Given the description of an element on the screen output the (x, y) to click on. 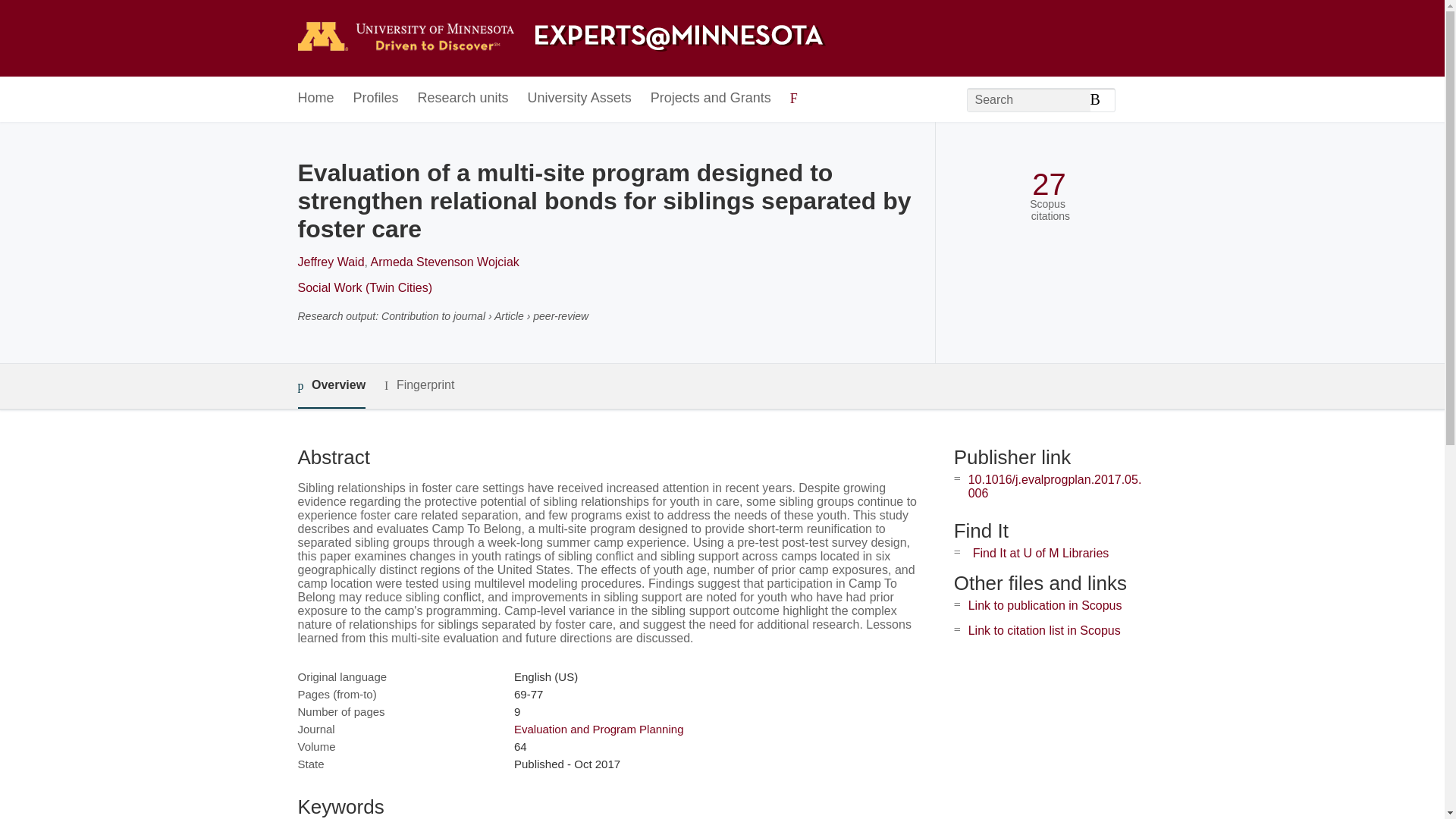
Evaluation and Program Planning (597, 728)
Research units (462, 98)
Find It at U of M Libraries (1040, 553)
Link to citation list in Scopus (1044, 630)
Overview (331, 385)
Fingerprint (419, 385)
Jeffrey Waid (330, 261)
27 (1048, 184)
Armeda Stevenson Wojciak (445, 261)
